Given the description of an element on the screen output the (x, y) to click on. 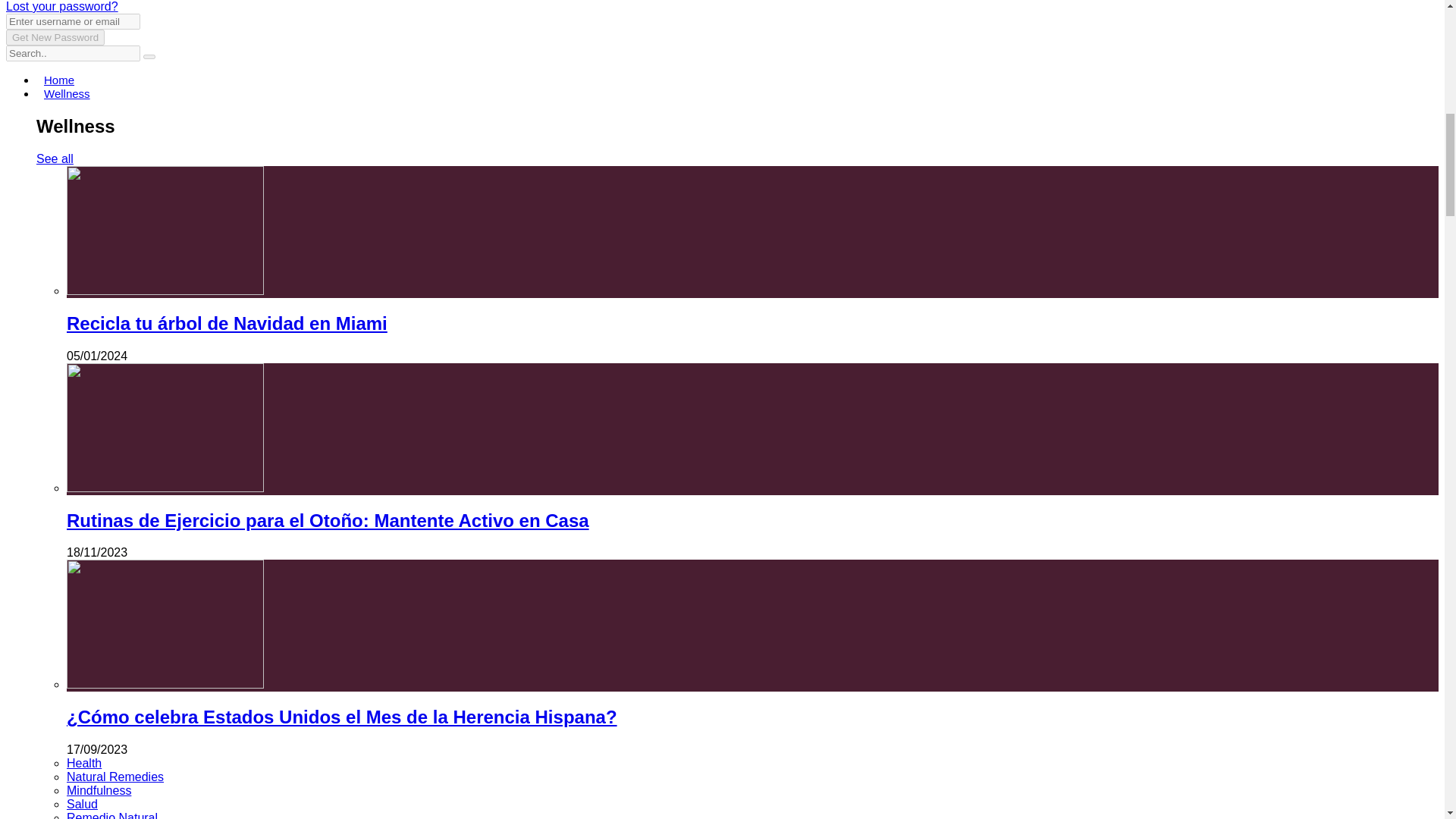
Get New Password (54, 37)
Lost your password? (61, 6)
